Given the description of an element on the screen output the (x, y) to click on. 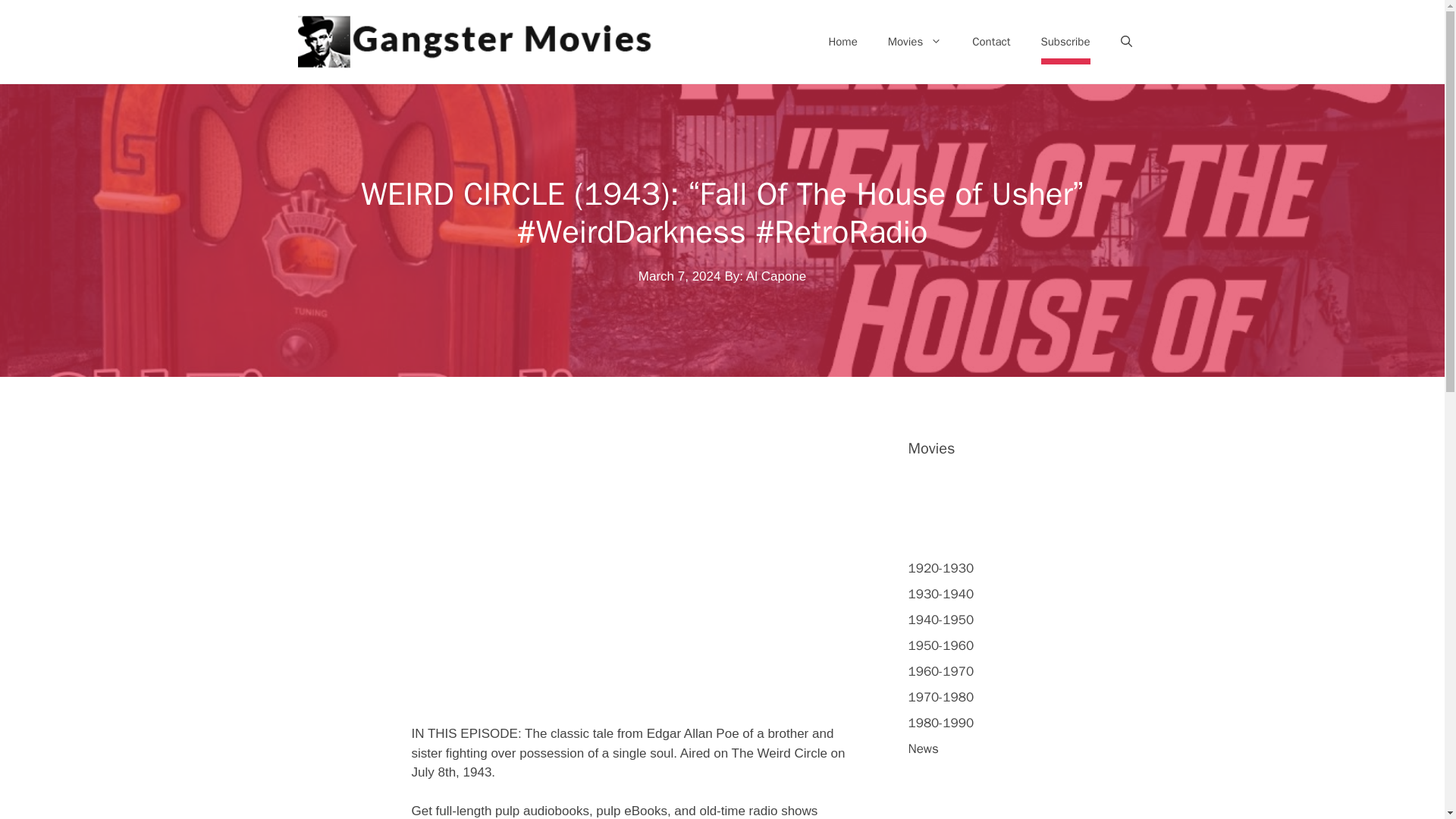
1940-1950 (941, 619)
Contact (990, 41)
1960-1970 (941, 671)
Home (842, 41)
1920-1930 (941, 568)
Movies (914, 41)
Subscribe (1065, 41)
1930-1940 (941, 593)
1950-1960 (941, 645)
